Given the description of an element on the screen output the (x, y) to click on. 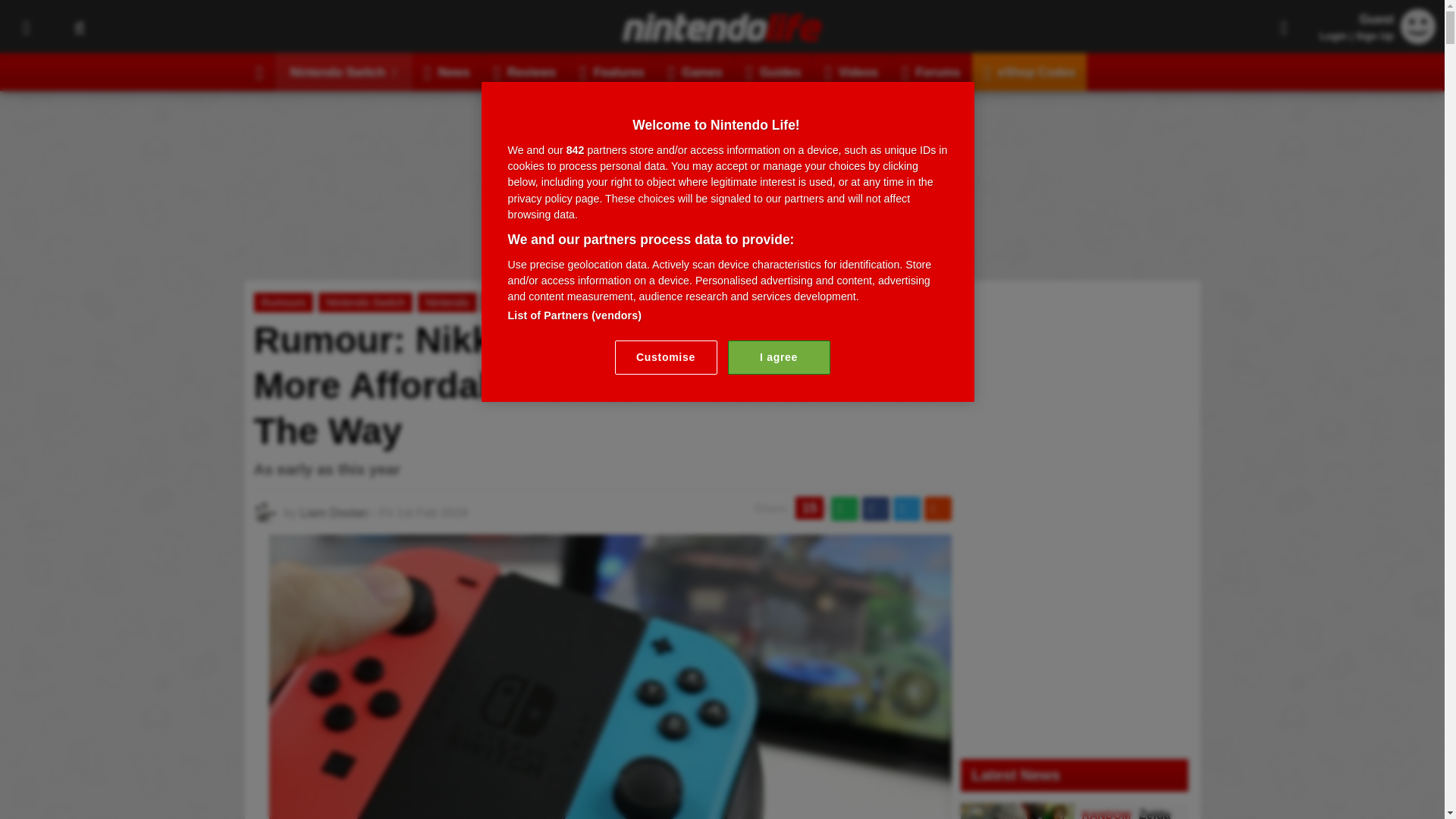
Reviews (525, 71)
eShop Codes (1029, 71)
Login (1332, 35)
News (446, 71)
Features (611, 71)
Nintendo Switch (344, 71)
Guest (1417, 39)
Nintendo Life (721, 27)
Games (695, 71)
Guides (774, 71)
Topics (26, 26)
Sign Up (1374, 35)
Search (79, 26)
Forums (930, 71)
Videos (850, 71)
